Given the description of an element on the screen output the (x, y) to click on. 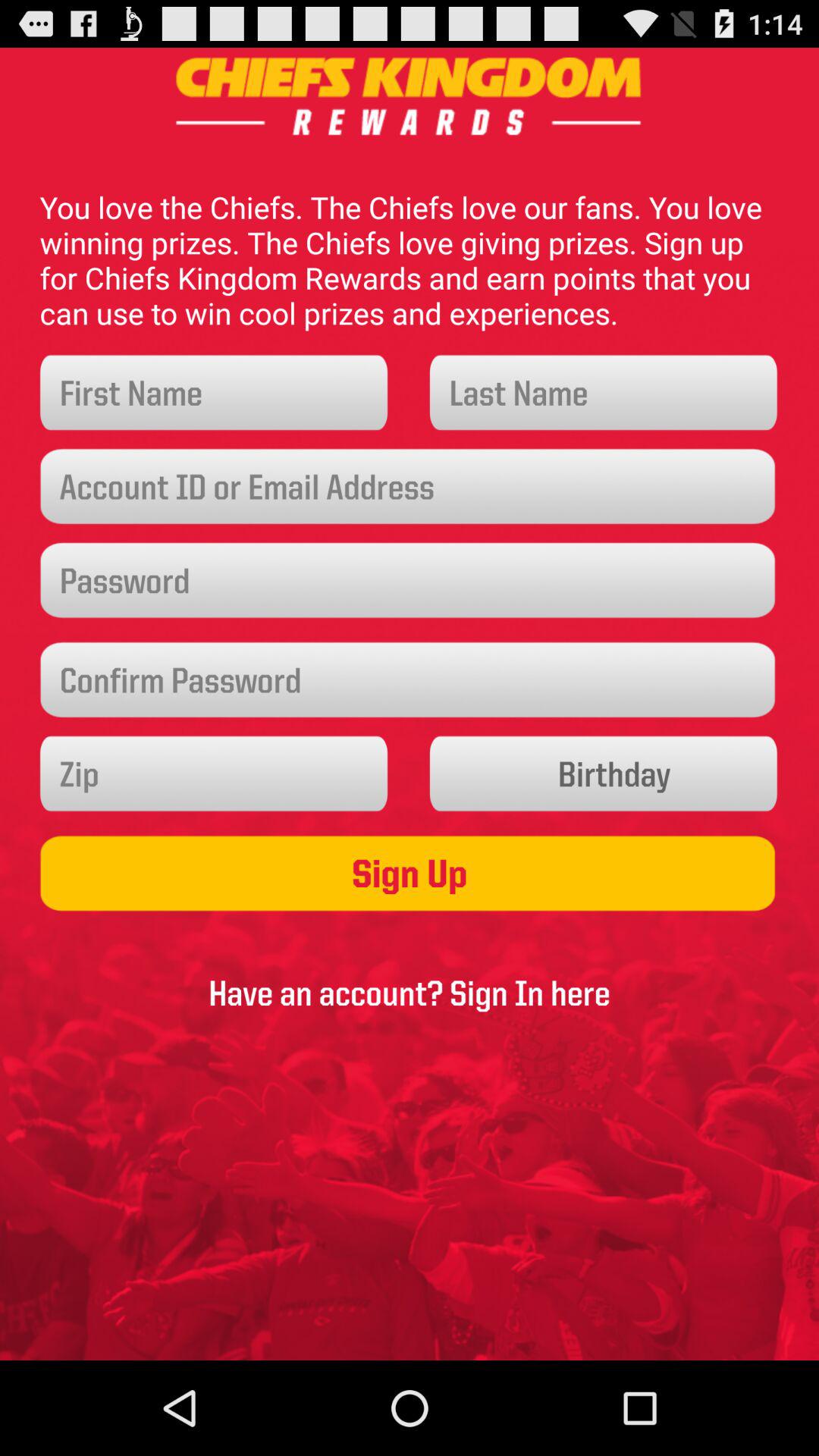
enter first name (214, 392)
